Given the description of an element on the screen output the (x, y) to click on. 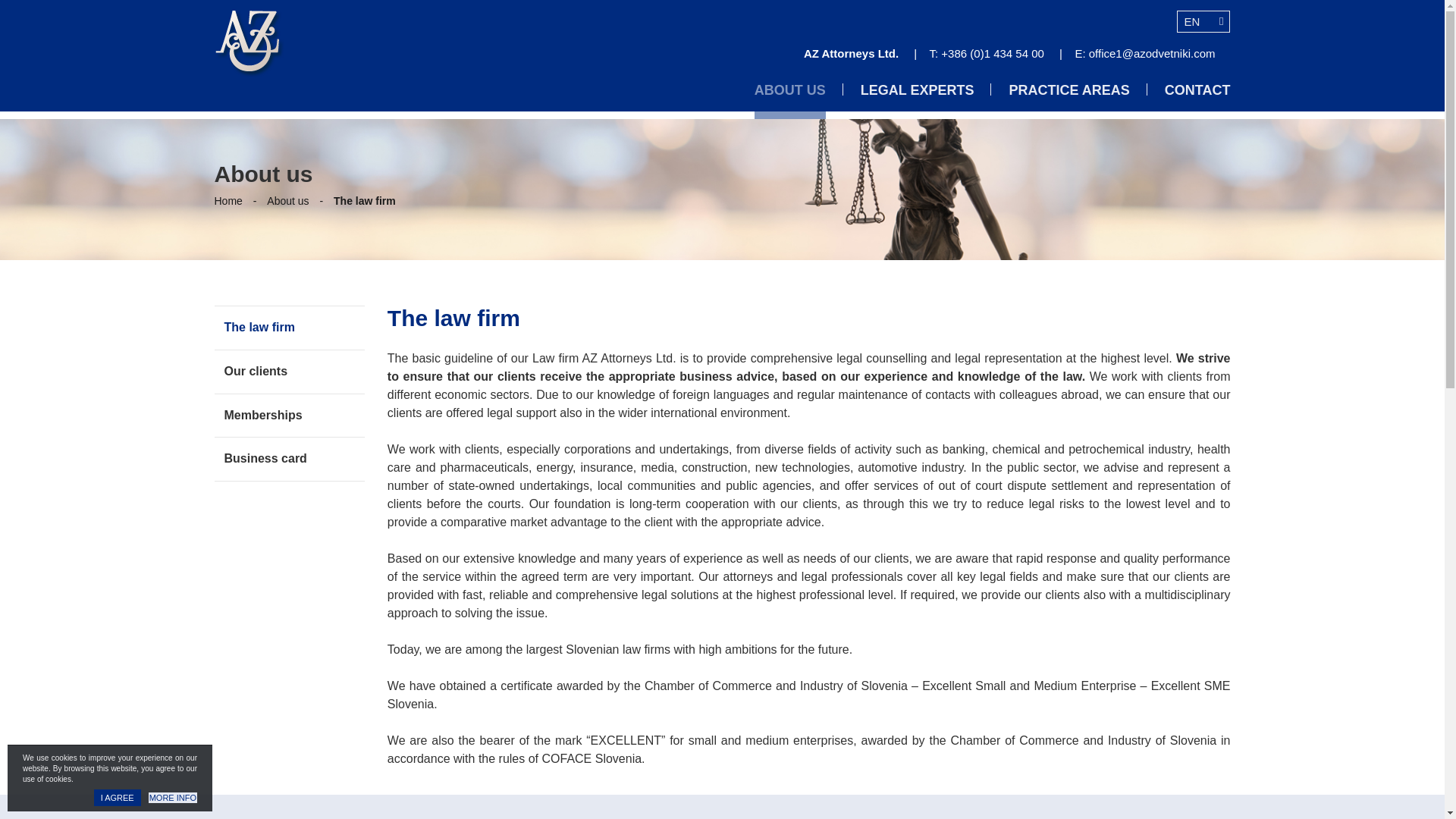
ABOUT US (789, 100)
